Given the description of an element on the screen output the (x, y) to click on. 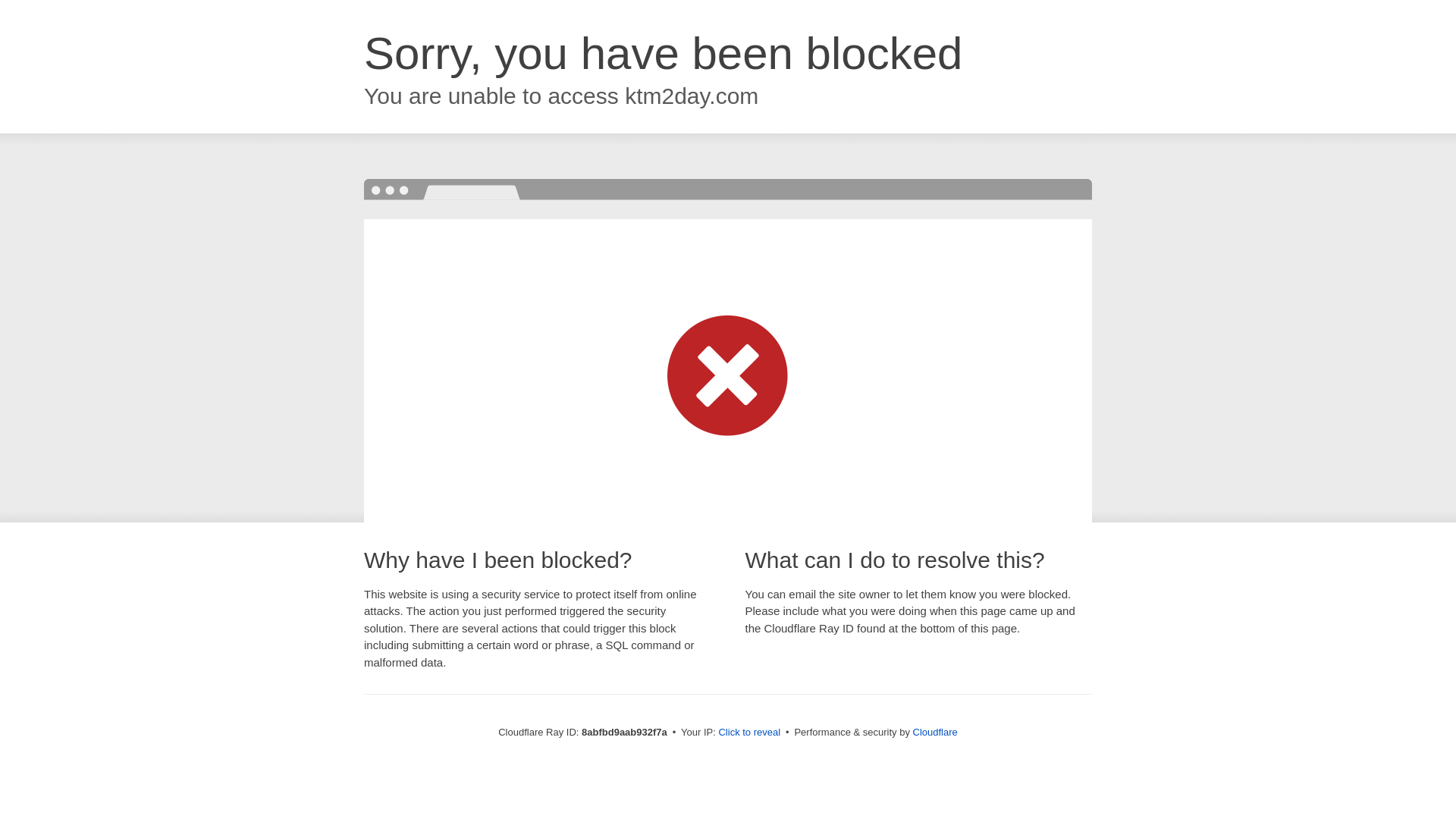
Click to reveal (748, 732)
Cloudflare (935, 731)
